Given the description of an element on the screen output the (x, y) to click on. 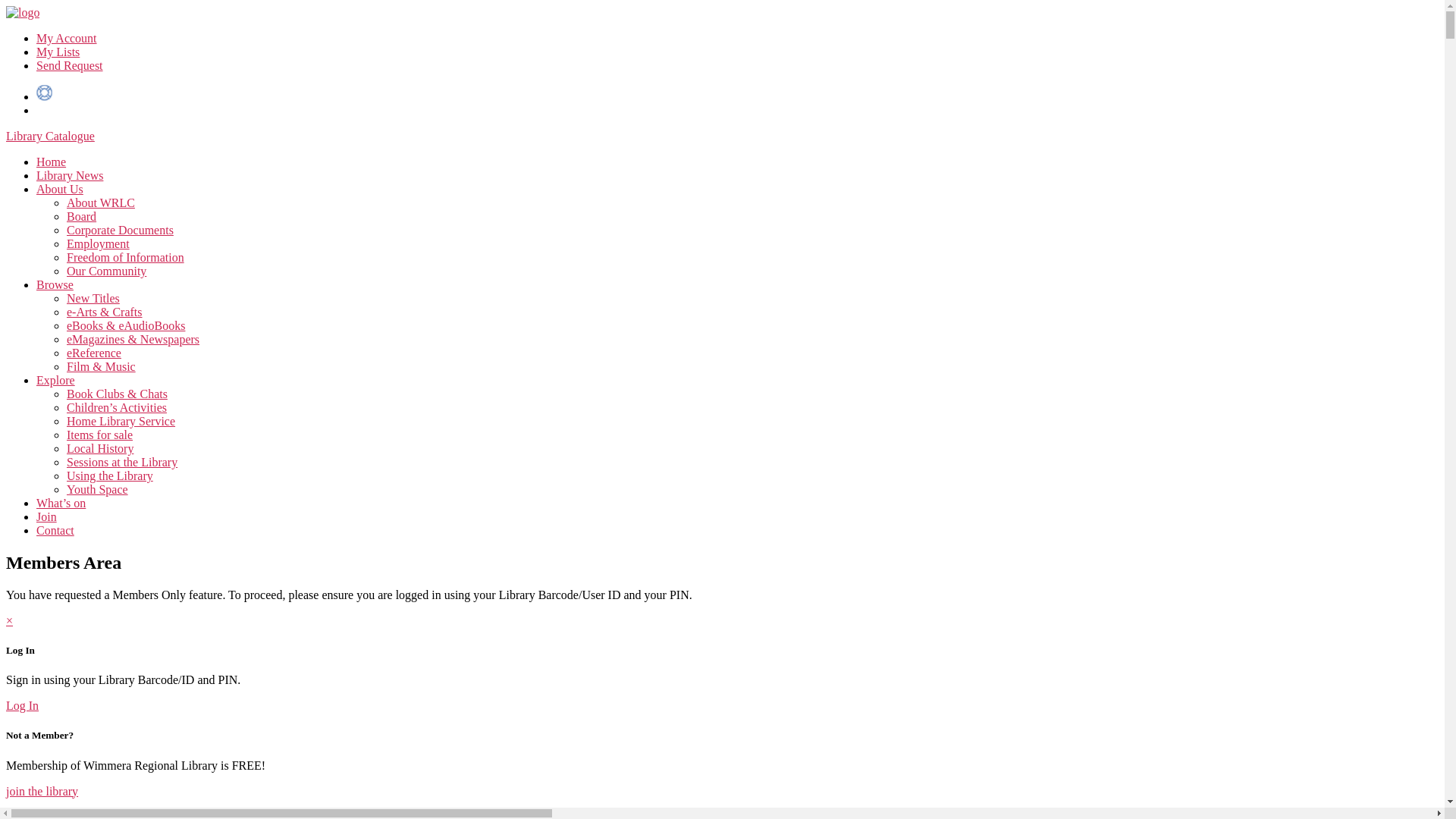
My Account Element type: text (66, 37)
Employment Element type: text (97, 243)
Sessions at the Library Element type: text (121, 461)
Join Element type: text (46, 516)
Using the Library Element type: text (109, 475)
New Titles Element type: text (92, 297)
About Us Element type: text (59, 188)
Local History Element type: text (99, 448)
eMagazines & Newspapers Element type: text (132, 338)
Library Catalogue Element type: text (50, 135)
eReference Element type: text (93, 352)
Corporate Documents Element type: text (119, 229)
join the library Element type: text (42, 790)
Contact Element type: text (55, 530)
Library News Element type: text (69, 175)
Browse Element type: text (54, 284)
Freedom of Information Element type: text (125, 257)
Items for sale Element type: text (99, 434)
Send Request Element type: text (69, 65)
Skip to the content Element type: text (5, 5)
Film & Music Element type: text (100, 366)
Book Clubs & Chats Element type: text (116, 393)
Home Library Service Element type: text (120, 420)
Youth Space Element type: text (97, 489)
Board Element type: text (81, 216)
About WRLC Element type: text (100, 202)
e-Arts & Crafts Element type: text (104, 311)
eBooks & eAudioBooks Element type: text (125, 325)
Our Community Element type: text (106, 270)
Log In Element type: text (22, 705)
Explore Element type: text (55, 379)
Home Element type: text (50, 161)
My Lists Element type: text (57, 51)
